Given the description of an element on the screen output the (x, y) to click on. 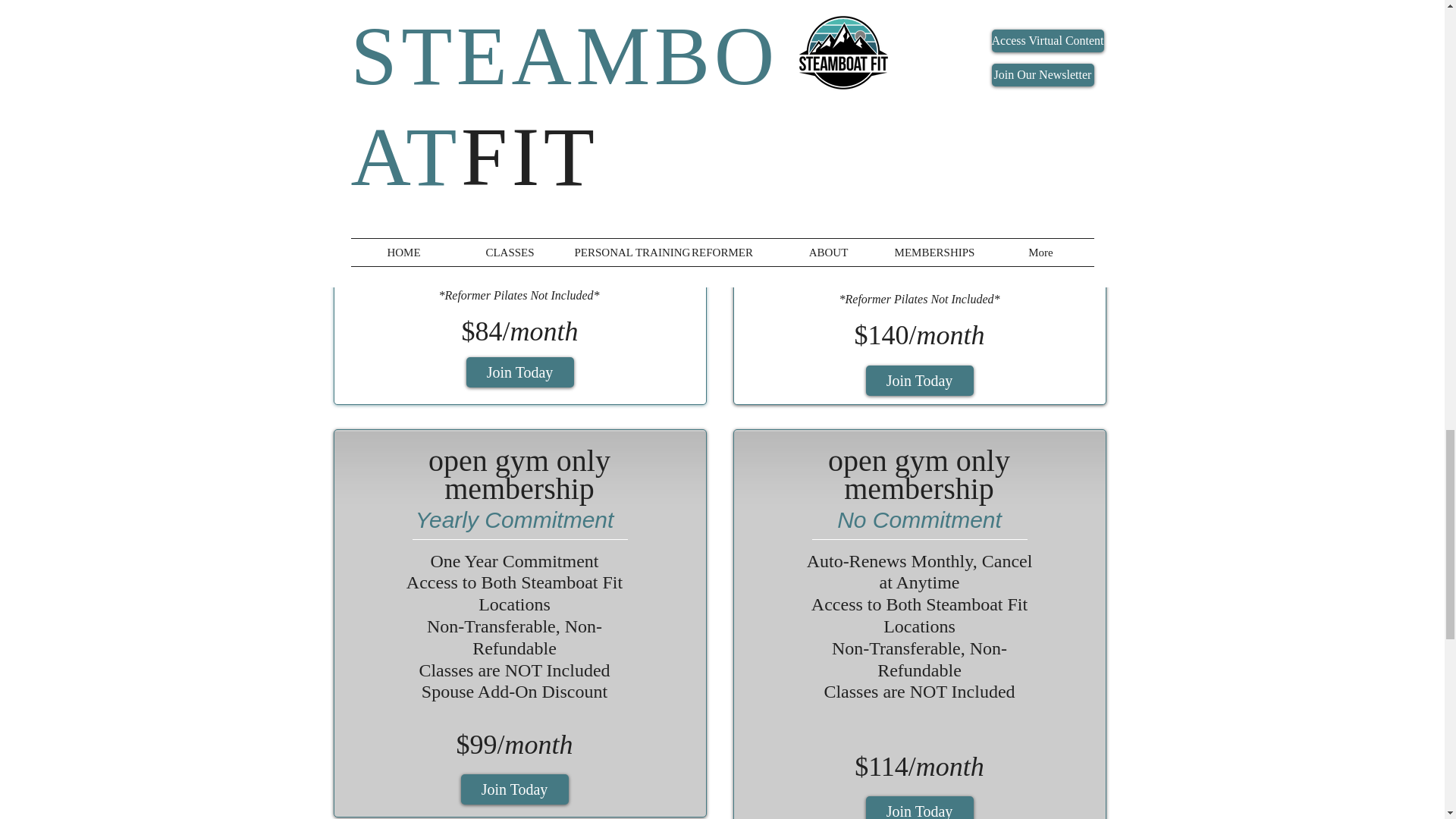
Join Today (515, 788)
Join Today (920, 380)
Join Today (920, 807)
Join Today (515, 3)
Join Today (519, 372)
Join Today (920, 13)
